Given the description of an element on the screen output the (x, y) to click on. 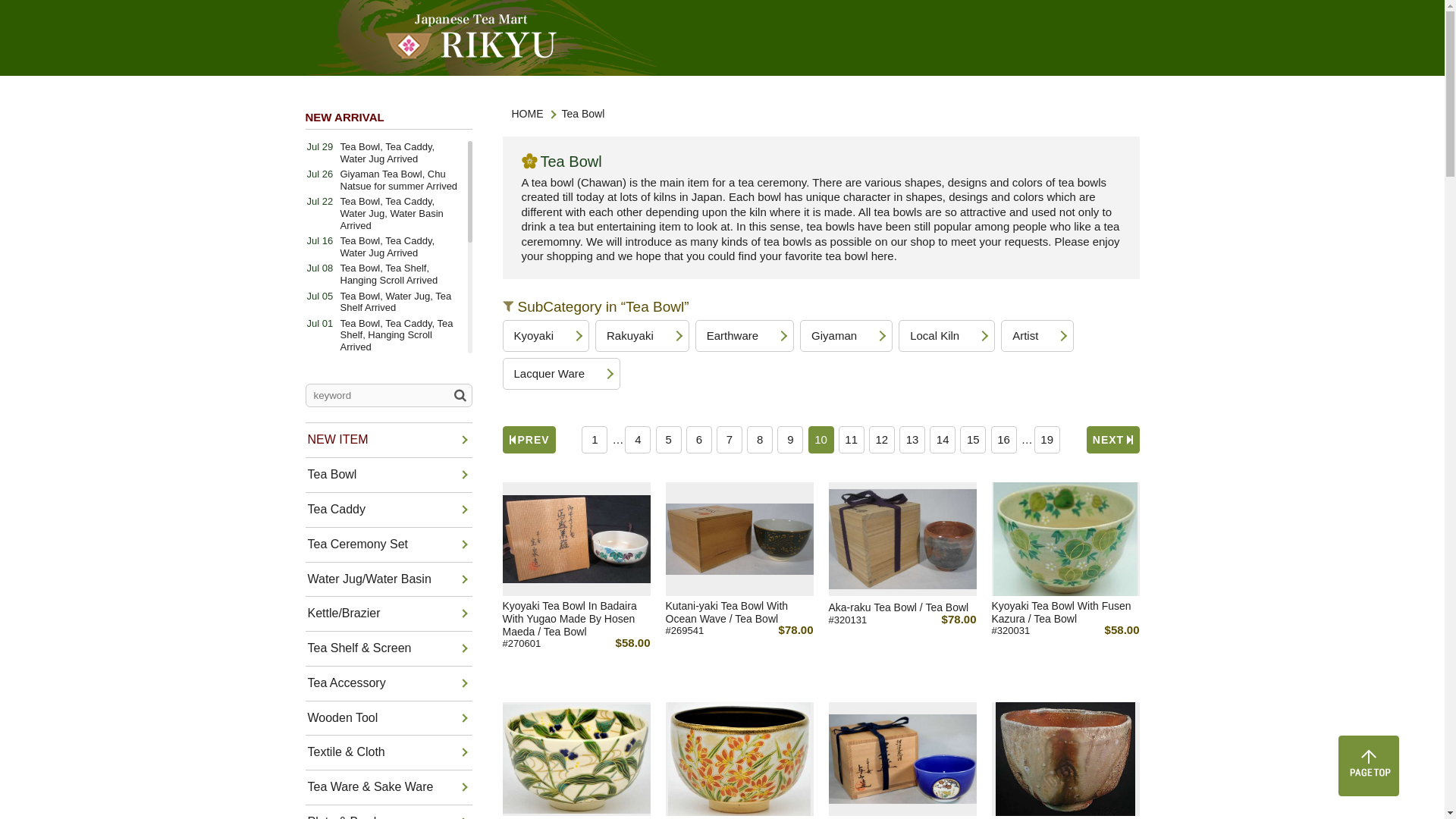
7 (729, 439)
13 (911, 439)
6 (698, 439)
15 (972, 439)
19 (1046, 439)
Rakuyaki (641, 336)
1 (593, 439)
Artist (1037, 336)
Earthware (744, 336)
5 (668, 439)
Lacquer Ware (561, 373)
11 (851, 439)
12 (882, 439)
PREV (528, 439)
NEXT (1112, 439)
